Given the description of an element on the screen output the (x, y) to click on. 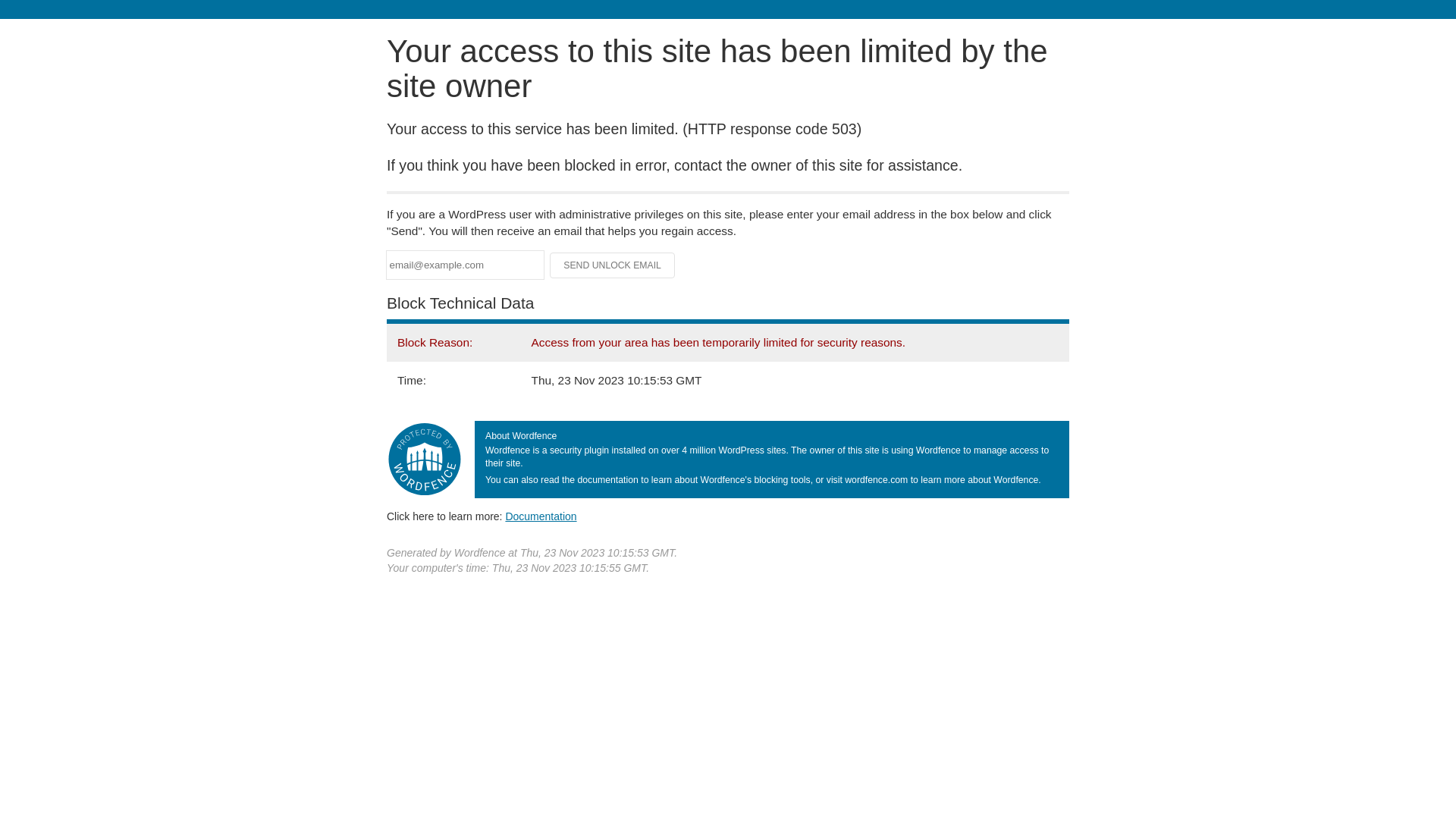
Send Unlock Email Element type: text (612, 265)
Documentation Element type: text (540, 516)
